Given the description of an element on the screen output the (x, y) to click on. 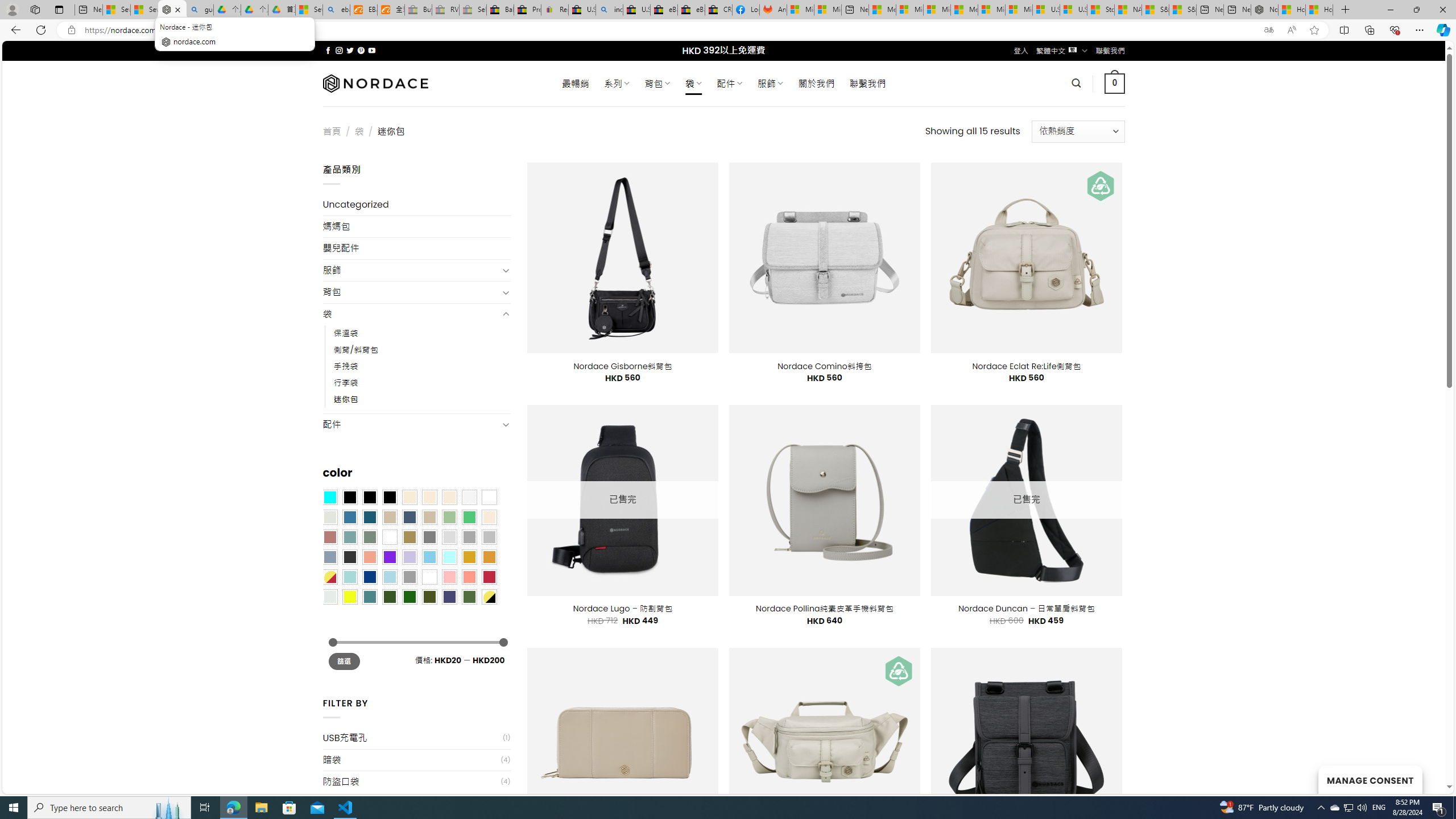
Follow on Pinterest (360, 50)
Follow on Facebook (327, 50)
